Given the description of an element on the screen output the (x, y) to click on. 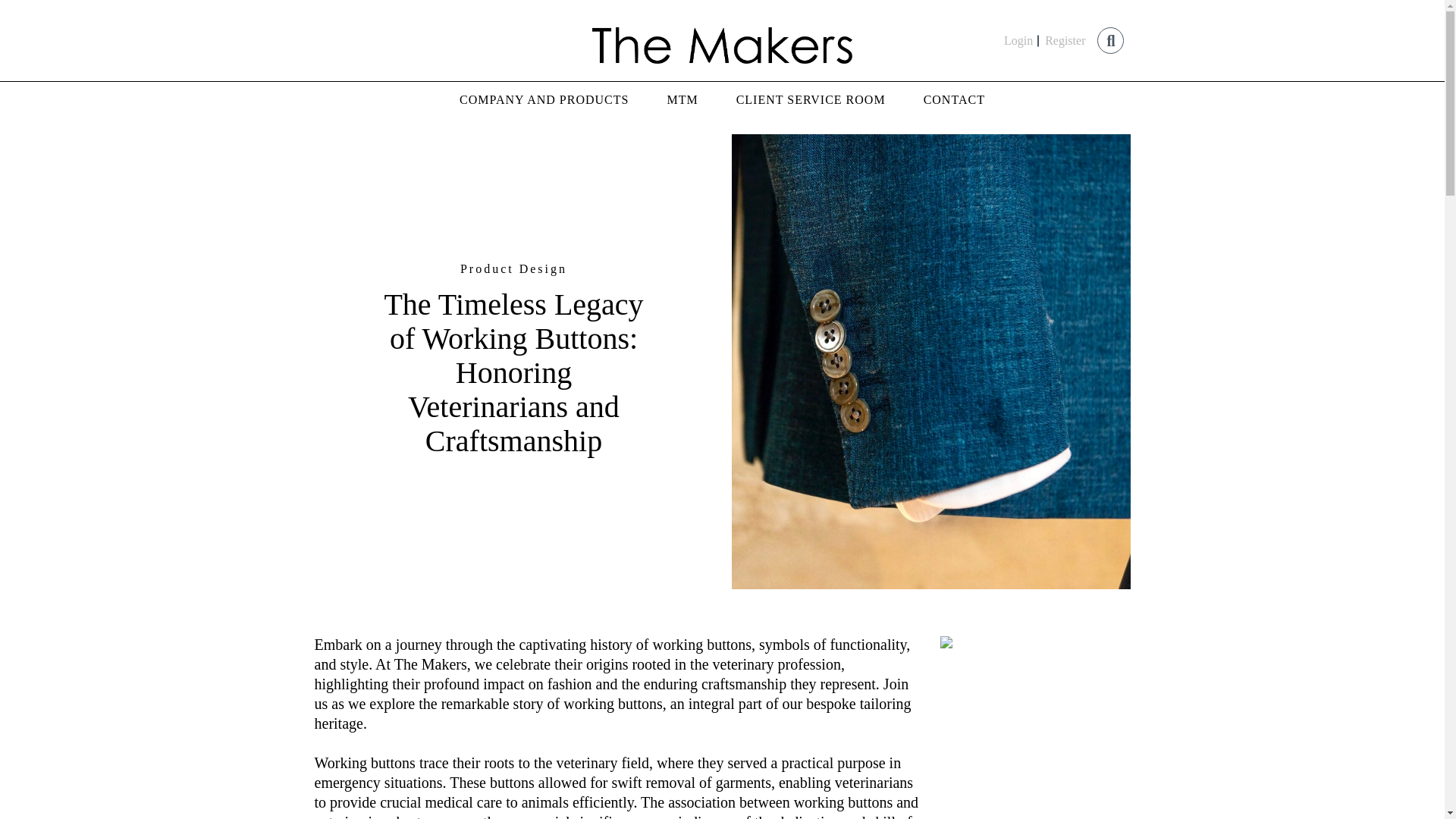
COMPANY AND PRODUCTS (544, 100)
Register (1064, 39)
MTM (681, 100)
CONTACT (954, 100)
CLIENT SERVICE ROOM (810, 100)
Login (1018, 39)
